Given the description of an element on the screen output the (x, y) to click on. 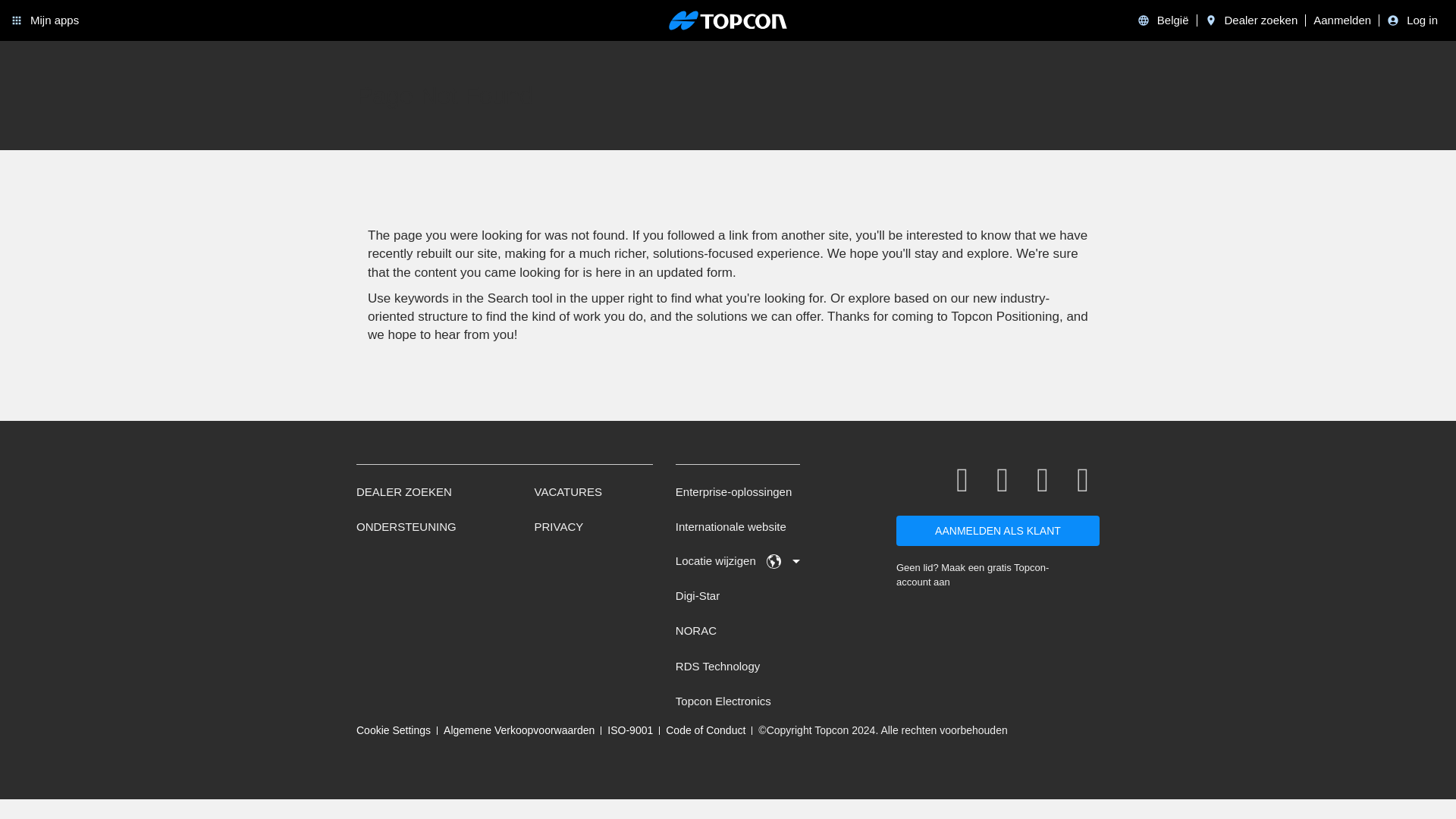
Aanmelden (1342, 20)
Dealer zoeken (1260, 20)
Log in (1422, 20)
